Given the description of an element on the screen output the (x, y) to click on. 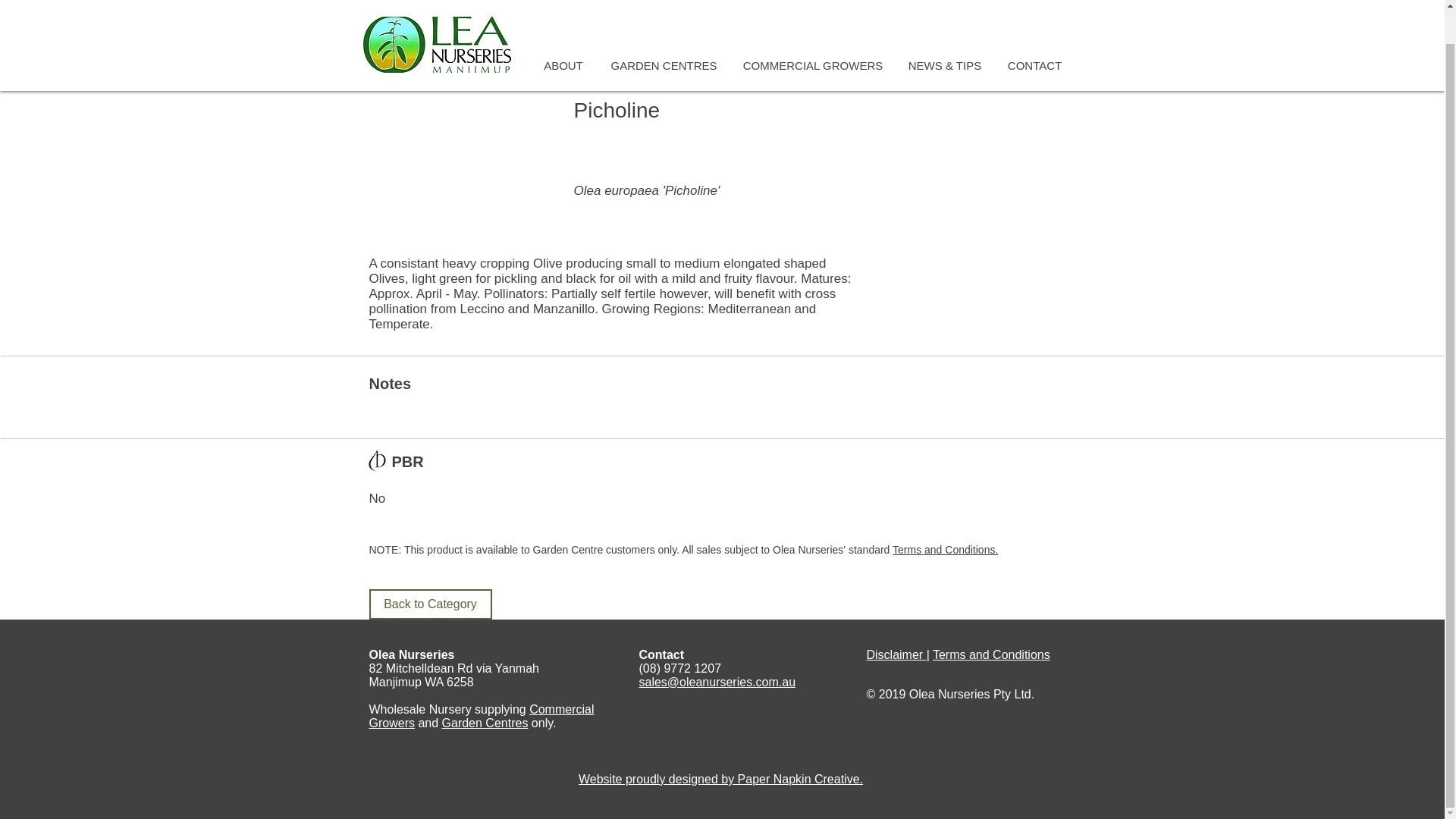
Screen Shot 2019-02-28 at 8.54.28 am.png (377, 459)
Terms and Conditions (991, 654)
ABOUT (563, 30)
Terms and Conditions. (944, 549)
Garden Centres (485, 722)
CONTACT (1033, 30)
Website proudly designed by Paper Napkin Creative. (720, 779)
Back to Category (430, 603)
Disclaimer (896, 654)
COMMERCIAL GROWERS (812, 30)
Commercial Growers (481, 715)
GARDEN CENTRES (662, 30)
olea logo final.jpg (436, 18)
